Given the description of an element on the screen output the (x, y) to click on. 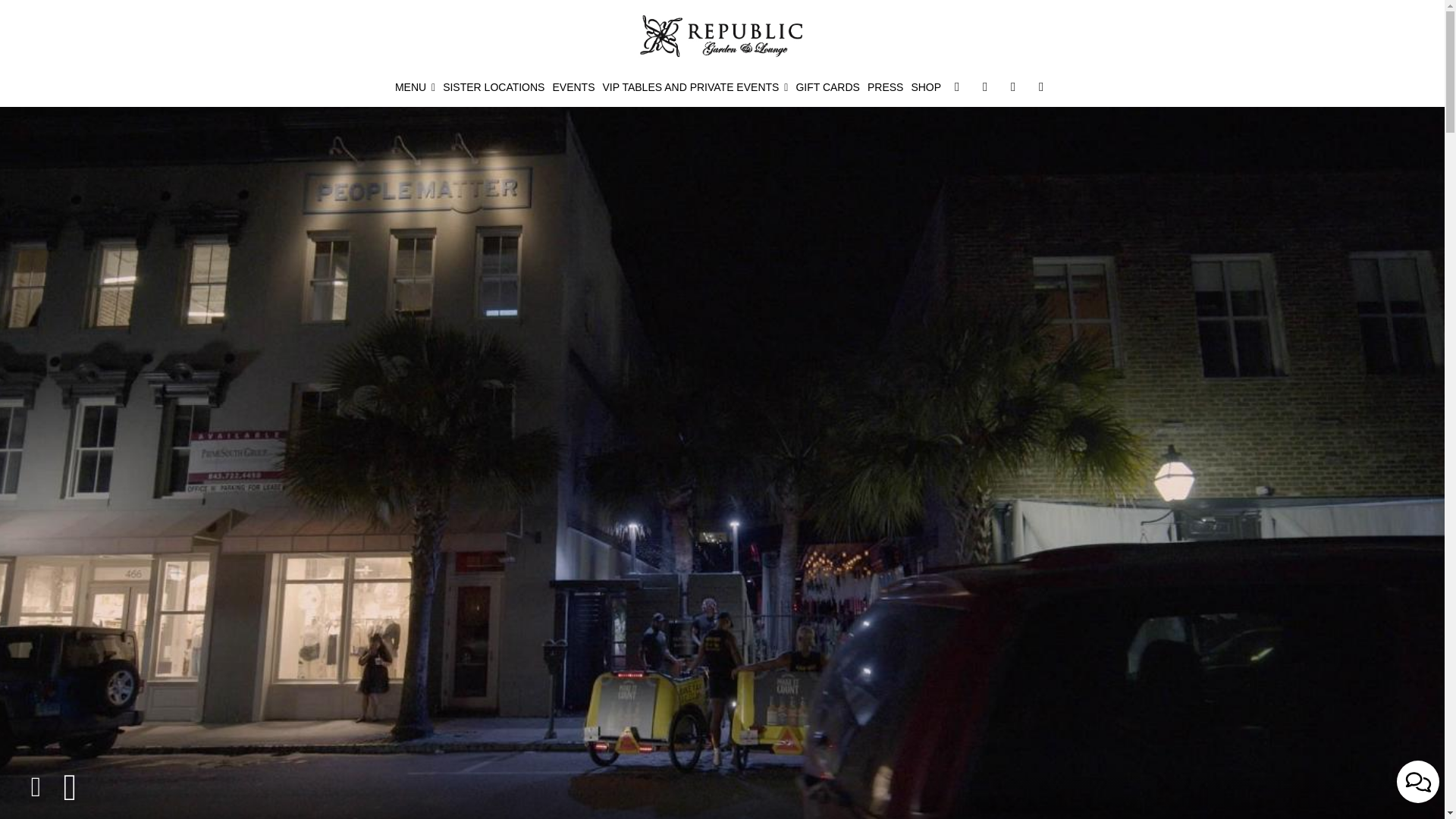
PRESS (885, 87)
SISTER LOCATIONS (493, 87)
GIFT CARDS (827, 87)
EVENTS (573, 87)
SHOP (925, 87)
VIP TABLES AND PRIVATE EVENTS (695, 87)
MENU (415, 87)
